Given the description of an element on the screen output the (x, y) to click on. 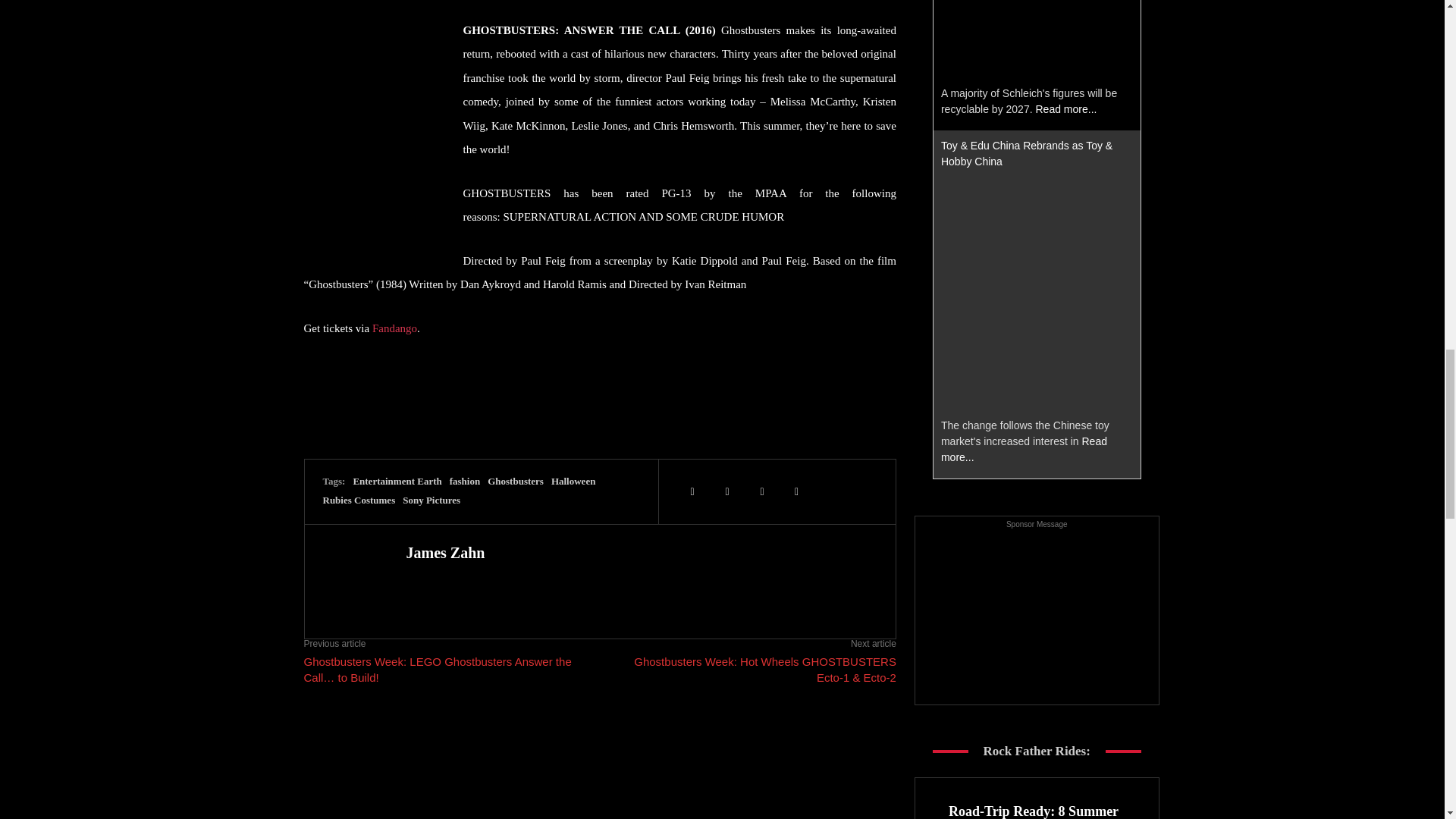
Facebook (761, 490)
ReddIt (796, 490)
Twitter (692, 490)
Linkedin (726, 490)
